Given the description of an element on the screen output the (x, y) to click on. 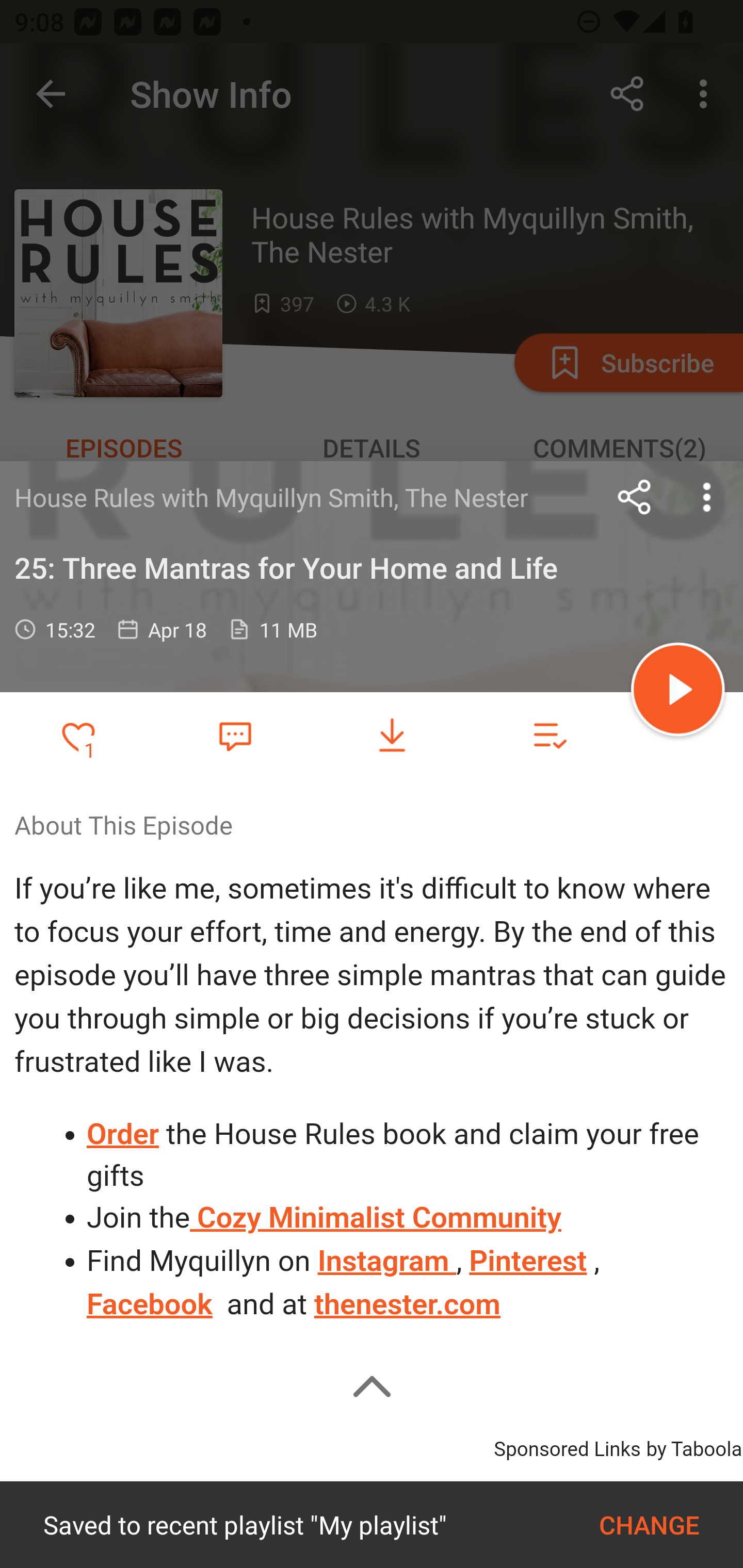
Share (634, 496)
more options (706, 496)
Play (677, 692)
Favorite (234, 735)
Add to Favorites (78, 735)
Download (391, 735)
Add to playlist (548, 735)
Order (123, 1134)
 Cozy Minimalist Community (375, 1218)
Instagram  (385, 1260)
Pinterest (527, 1260)
Facebook (149, 1303)
thenester.com (408, 1303)
Sponsored Links (566, 1446)
by Taboola (693, 1446)
Image for Taboola Advertising Unit (371, 1524)
CHANGE (648, 1524)
